Given the description of an element on the screen output the (x, y) to click on. 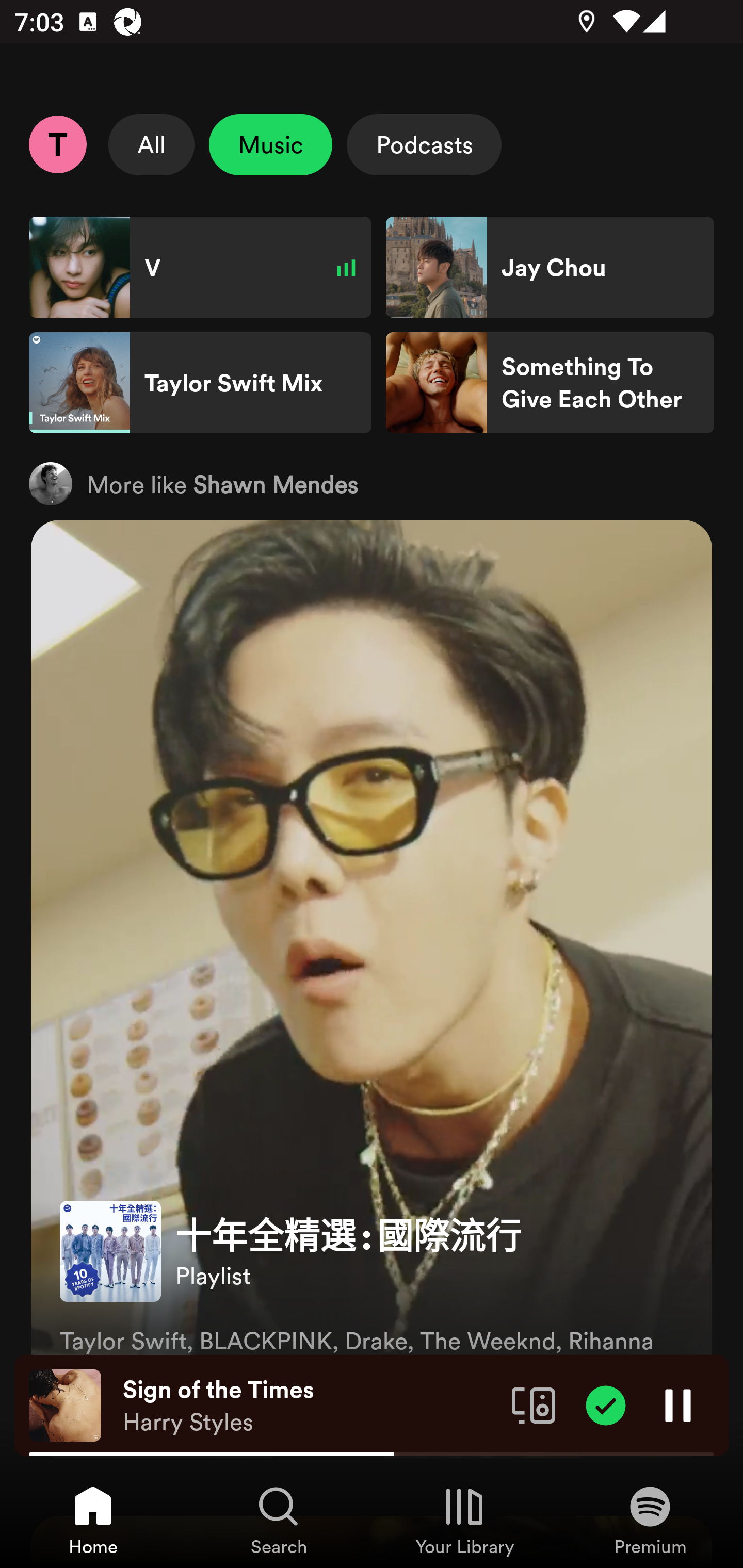
Profile (57, 144)
All Select All (151, 144)
Music Unselect Music (270, 144)
Podcasts Select Podcasts (423, 144)
V Shortcut V Playing (199, 267)
Jay Chou Shortcut Jay Chou (549, 267)
Taylor Swift Mix Shortcut Taylor Swift Mix (199, 382)
More like Shawn Mendes (371, 483)
Sign of the Times Harry Styles (309, 1405)
The cover art of the currently playing track (64, 1404)
Connect to a device. Opens the devices menu (533, 1404)
Item added (605, 1404)
Pause (677, 1404)
Home, Tab 1 of 4 Home Home (92, 1519)
Search, Tab 2 of 4 Search Search (278, 1519)
Your Library, Tab 3 of 4 Your Library Your Library (464, 1519)
Premium, Tab 4 of 4 Premium Premium (650, 1519)
